Given the description of an element on the screen output the (x, y) to click on. 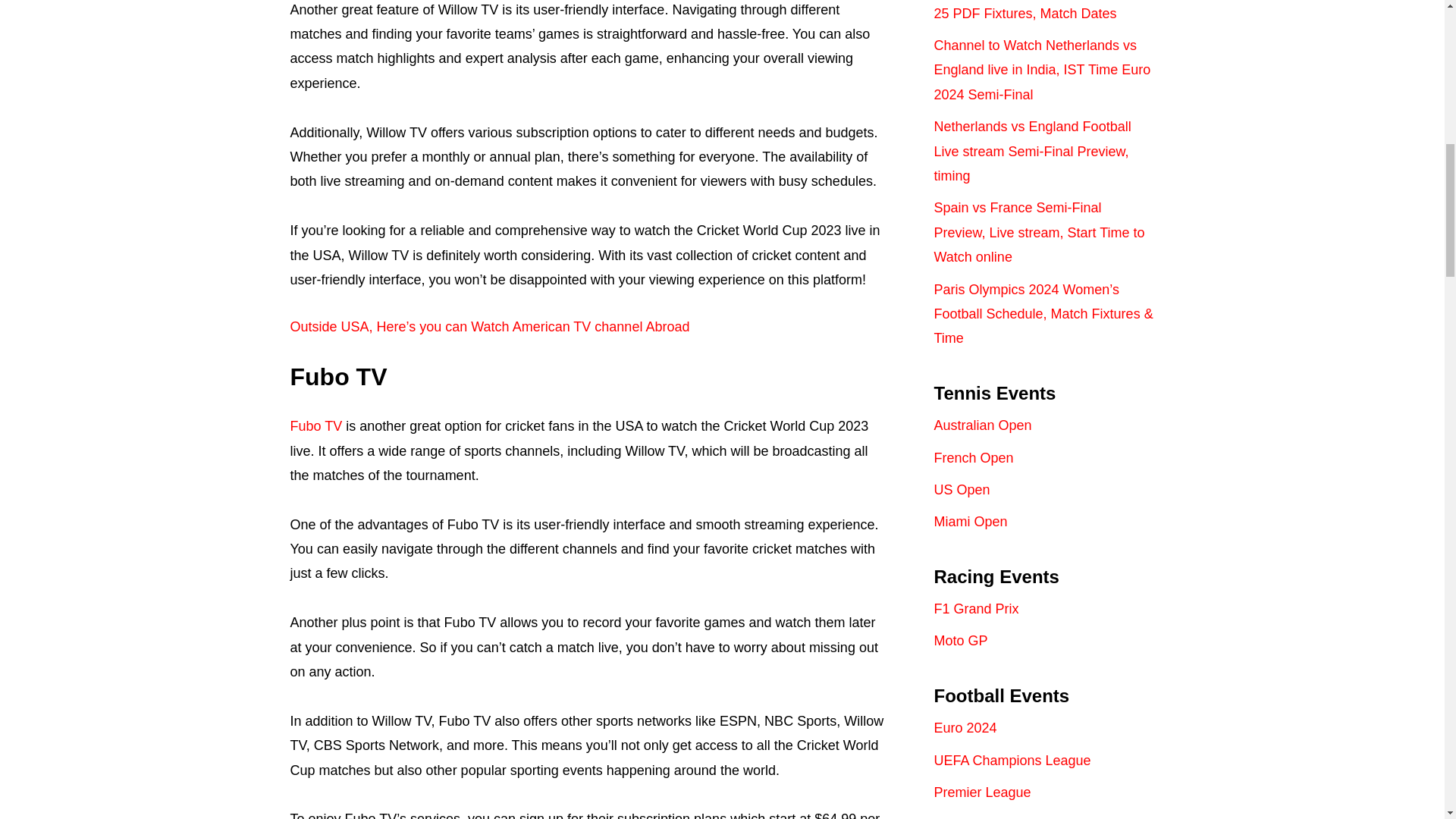
Fubo TV (315, 426)
